Given the description of an element on the screen output the (x, y) to click on. 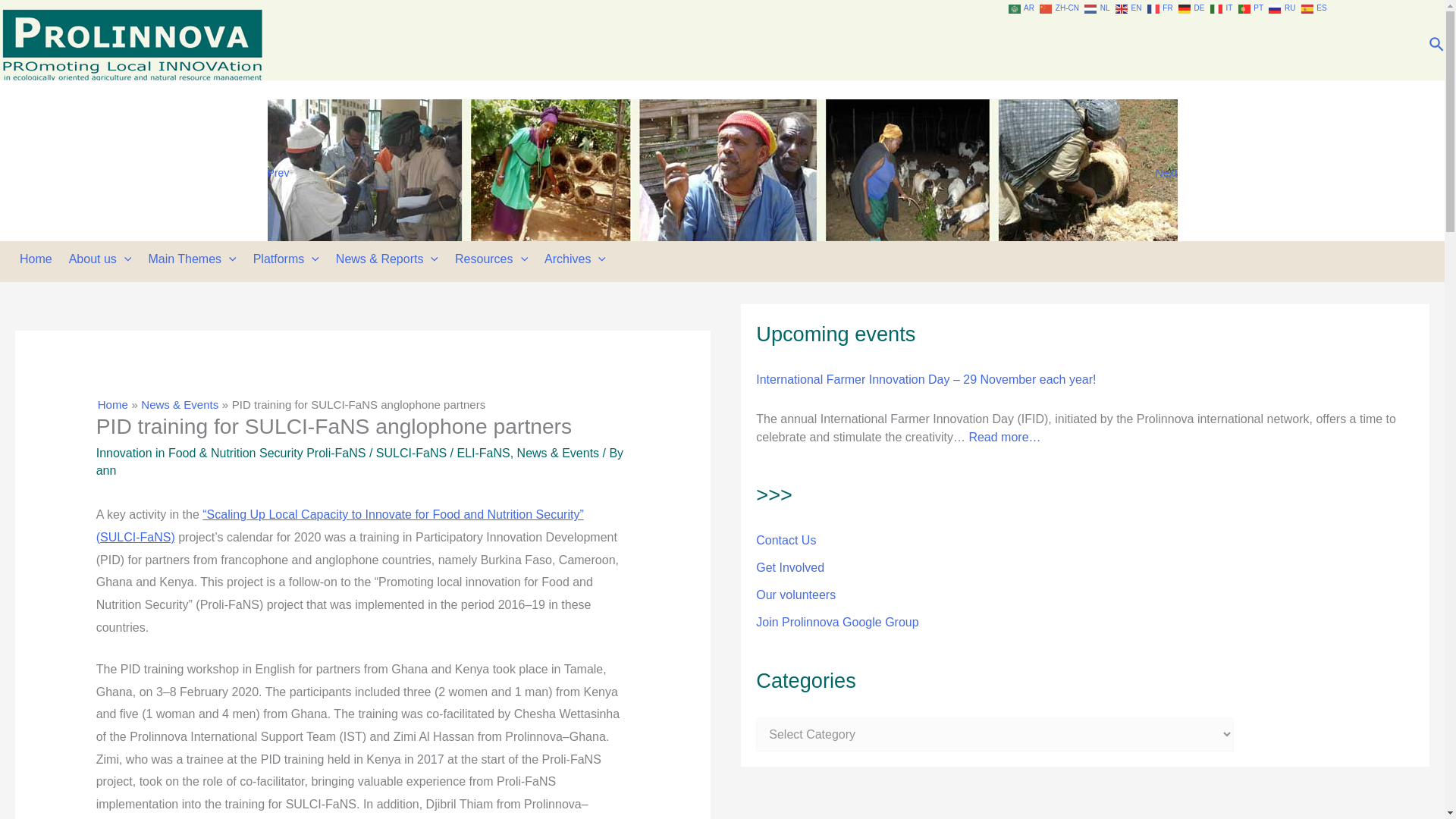
Home (39, 258)
Russian (1282, 7)
Next (1165, 172)
Spanish (1315, 7)
Arabic (1022, 7)
French (1160, 7)
Portuguese (1252, 7)
View all posts by ann (106, 470)
Italian (1221, 7)
Search (1437, 45)
Prev (277, 172)
About us (104, 258)
German (1192, 7)
Main Themes (194, 258)
Dutch (1098, 7)
